Given the description of an element on the screen output the (x, y) to click on. 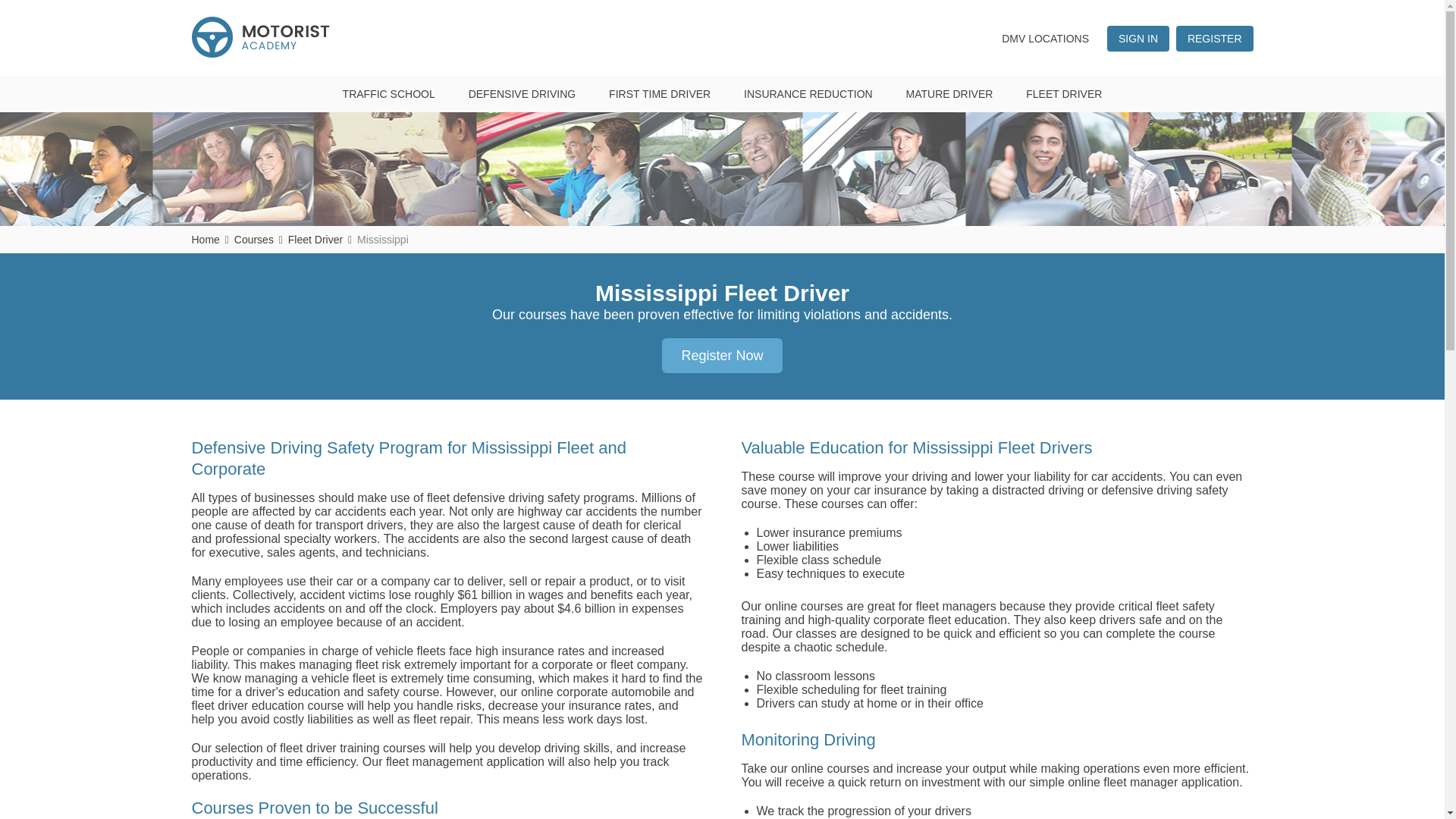
Register Now (721, 355)
FLEET DRIVER (1063, 94)
Motorist Academy - Traffic School Courses (259, 36)
SIGN IN (1137, 38)
Fleet Driver (315, 239)
DEFENSIVE DRIVING (521, 94)
Courses (253, 239)
TRAFFIC SCHOOL (388, 94)
DMV LOCATIONS (1045, 38)
INSURANCE REDUCTION (808, 94)
MATURE DRIVER (950, 94)
REGISTER (1214, 38)
Home (204, 239)
FIRST TIME DRIVER (659, 94)
